Given the description of an element on the screen output the (x, y) to click on. 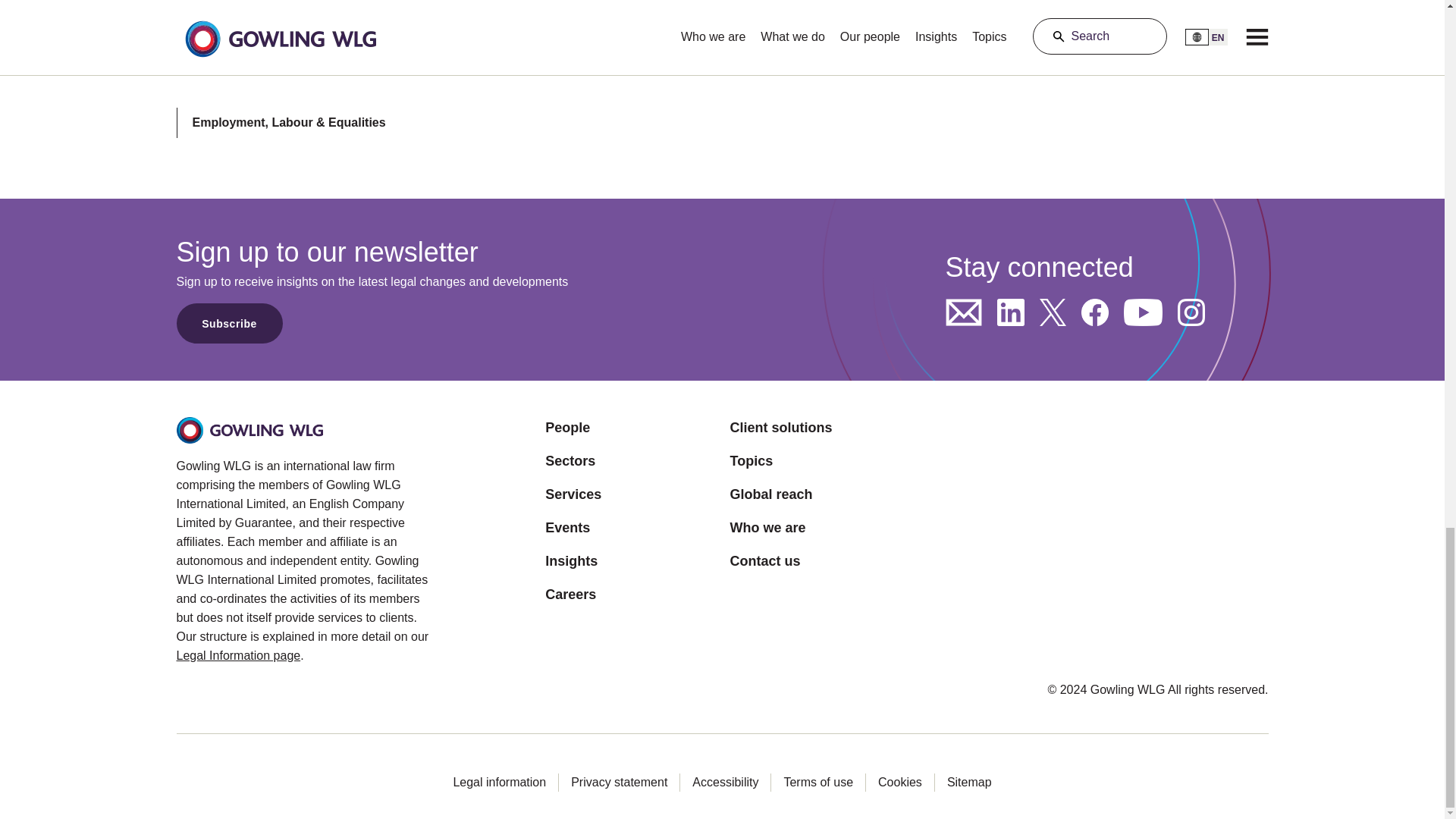
Subscribe (229, 323)
Legal Information page (237, 655)
People (572, 427)
